Given the description of an element on the screen output the (x, y) to click on. 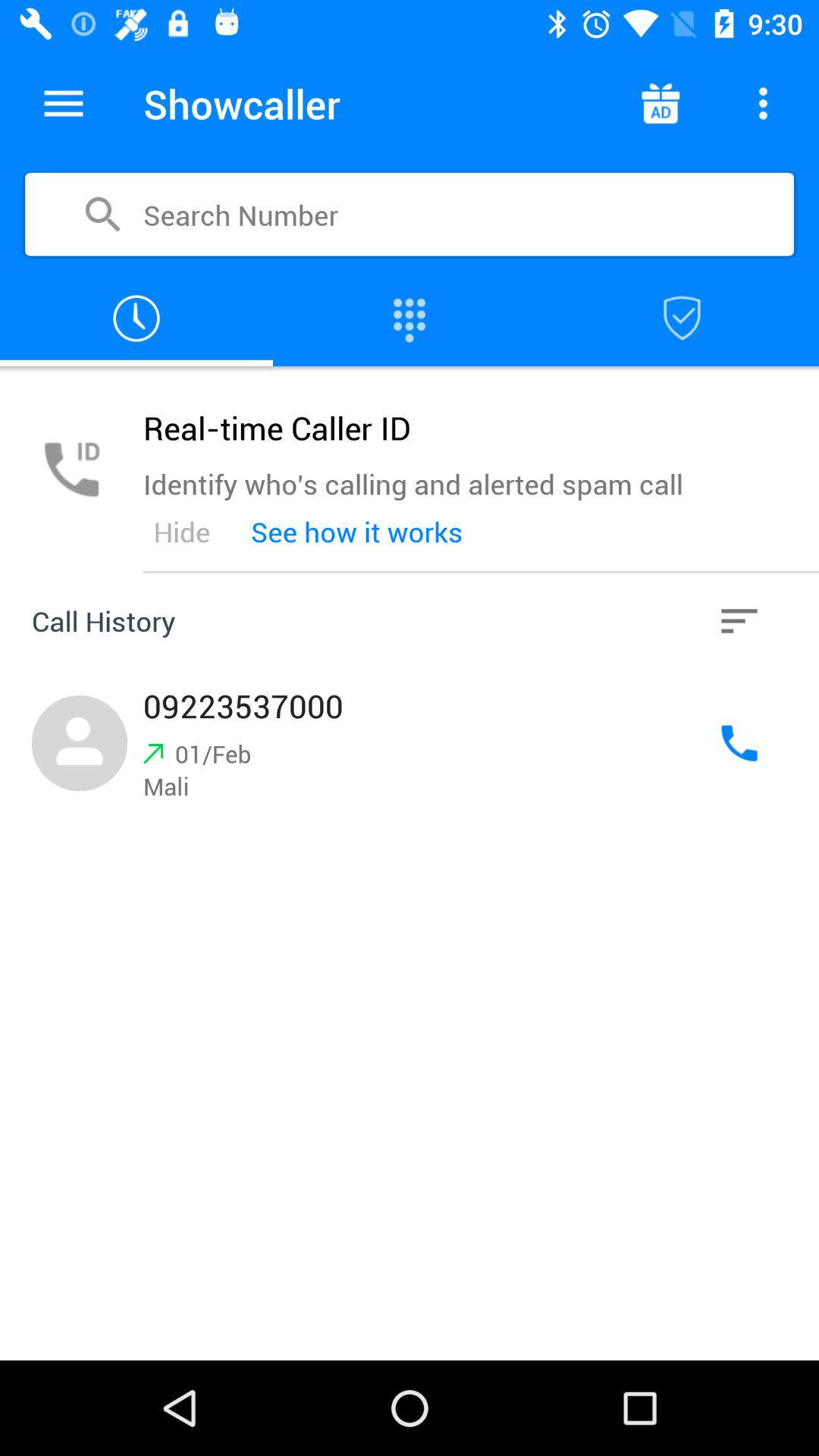
click on the text right of hide (356, 531)
click on filter button (739, 620)
hide option below identify text (181, 531)
select the left logo in call history (79, 742)
click on the search box in the top (409, 215)
go to phone icon in grey color on left side (71, 469)
